Given the description of an element on the screen output the (x, y) to click on. 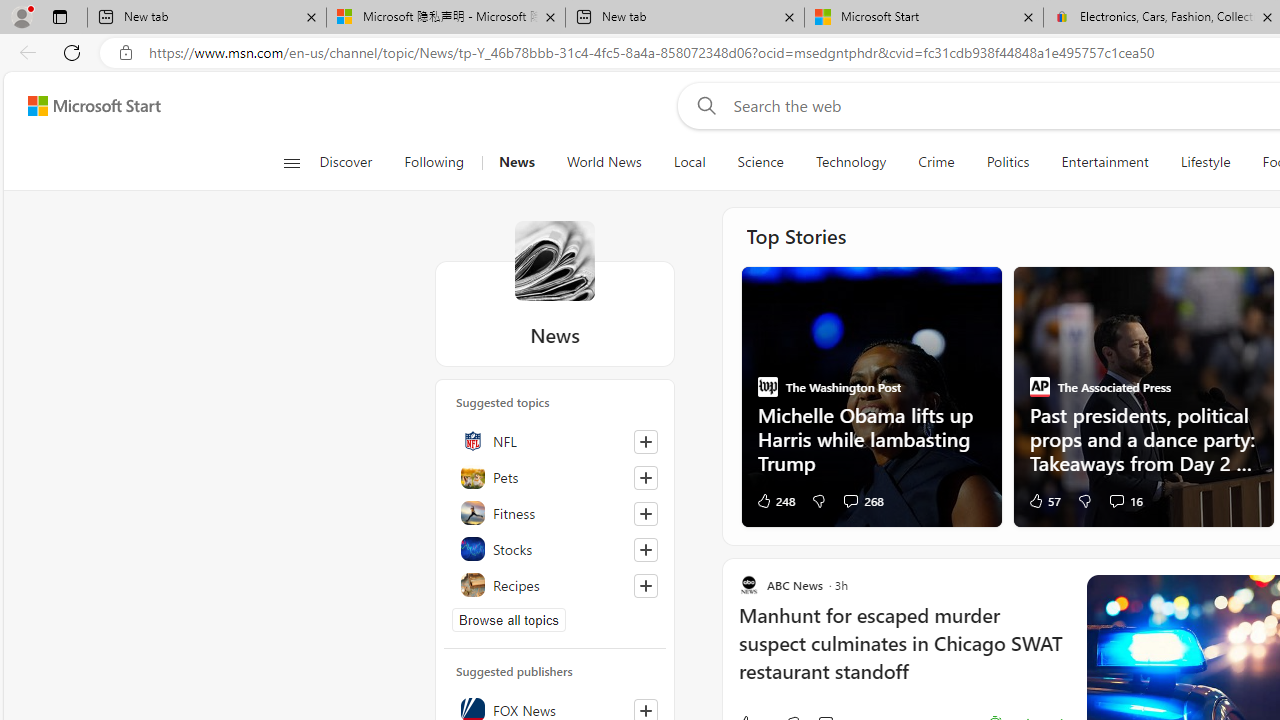
248 Like (774, 500)
Browse all topics (509, 619)
View comments 16 Comment (1116, 500)
